Given the description of an element on the screen output the (x, y) to click on. 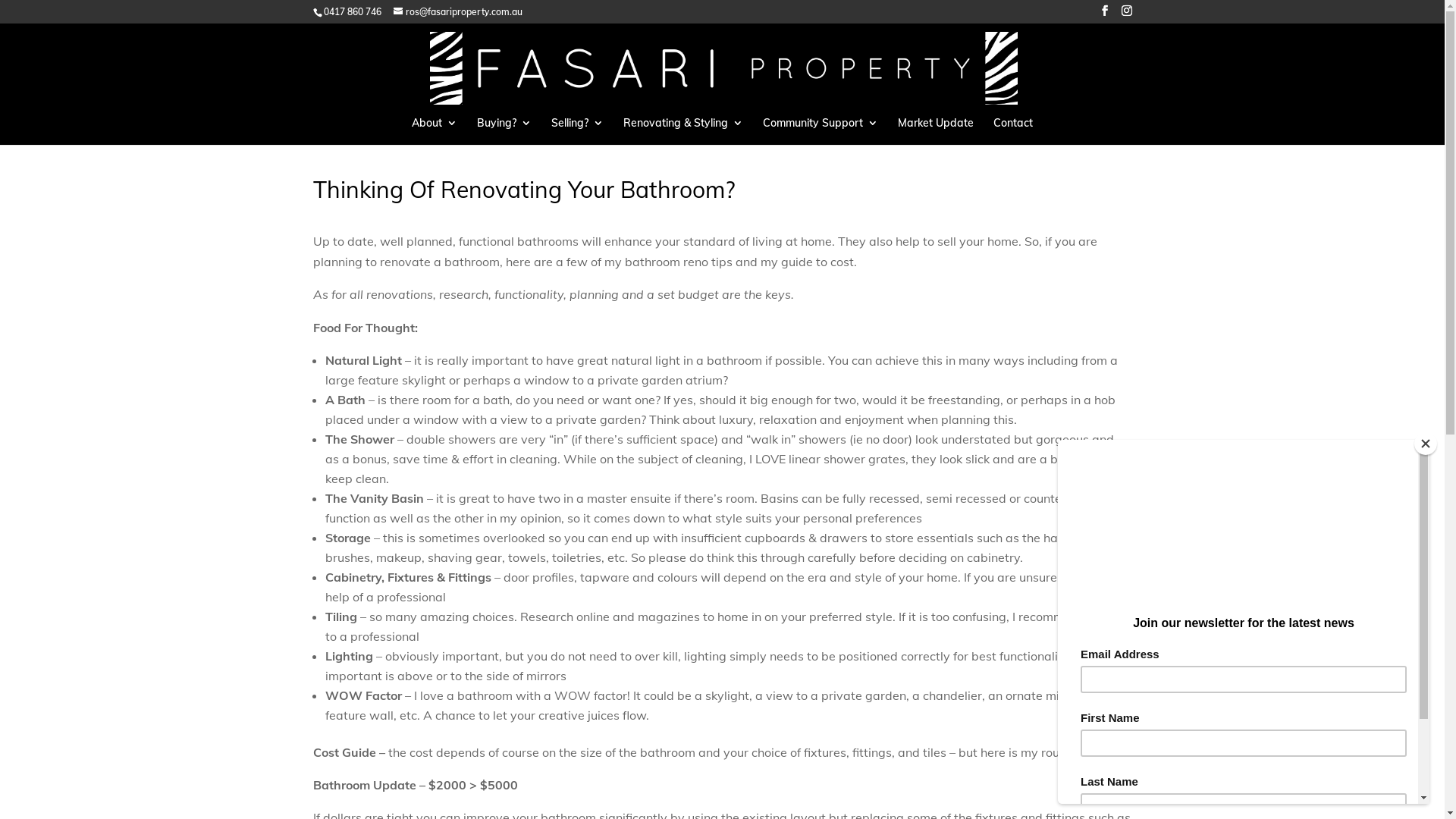
ros@fasariproperty.com.au Element type: text (456, 11)
Community Support Element type: text (820, 130)
Renovating & Styling Element type: text (683, 130)
Selling? Element type: text (577, 130)
Market Update Element type: text (935, 130)
About Element type: text (434, 130)
Buying? Element type: text (503, 130)
Contact Element type: text (1012, 130)
